Given the description of an element on the screen output the (x, y) to click on. 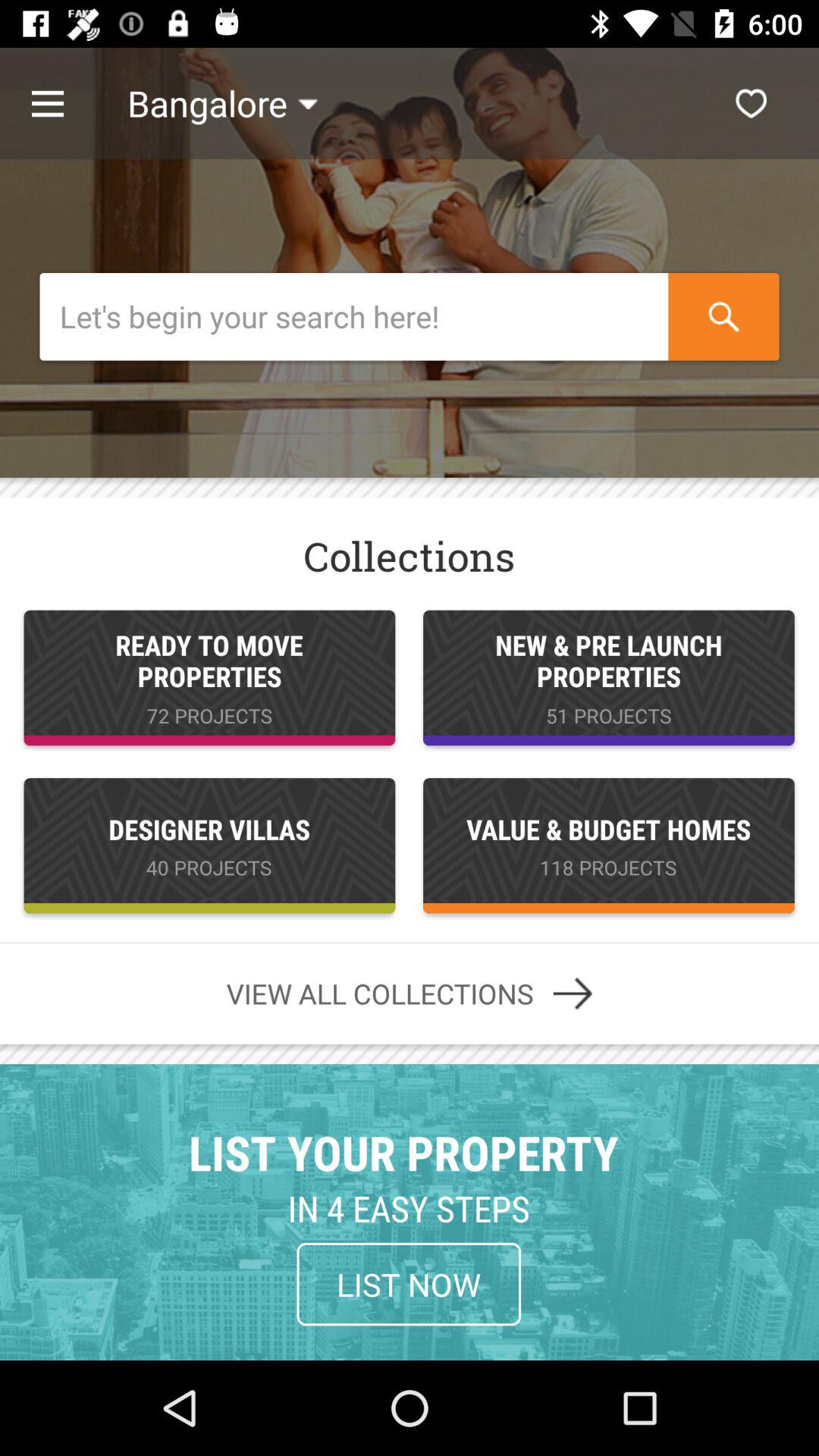
select the item below in 4 easy icon (408, 1283)
